Given the description of an element on the screen output the (x, y) to click on. 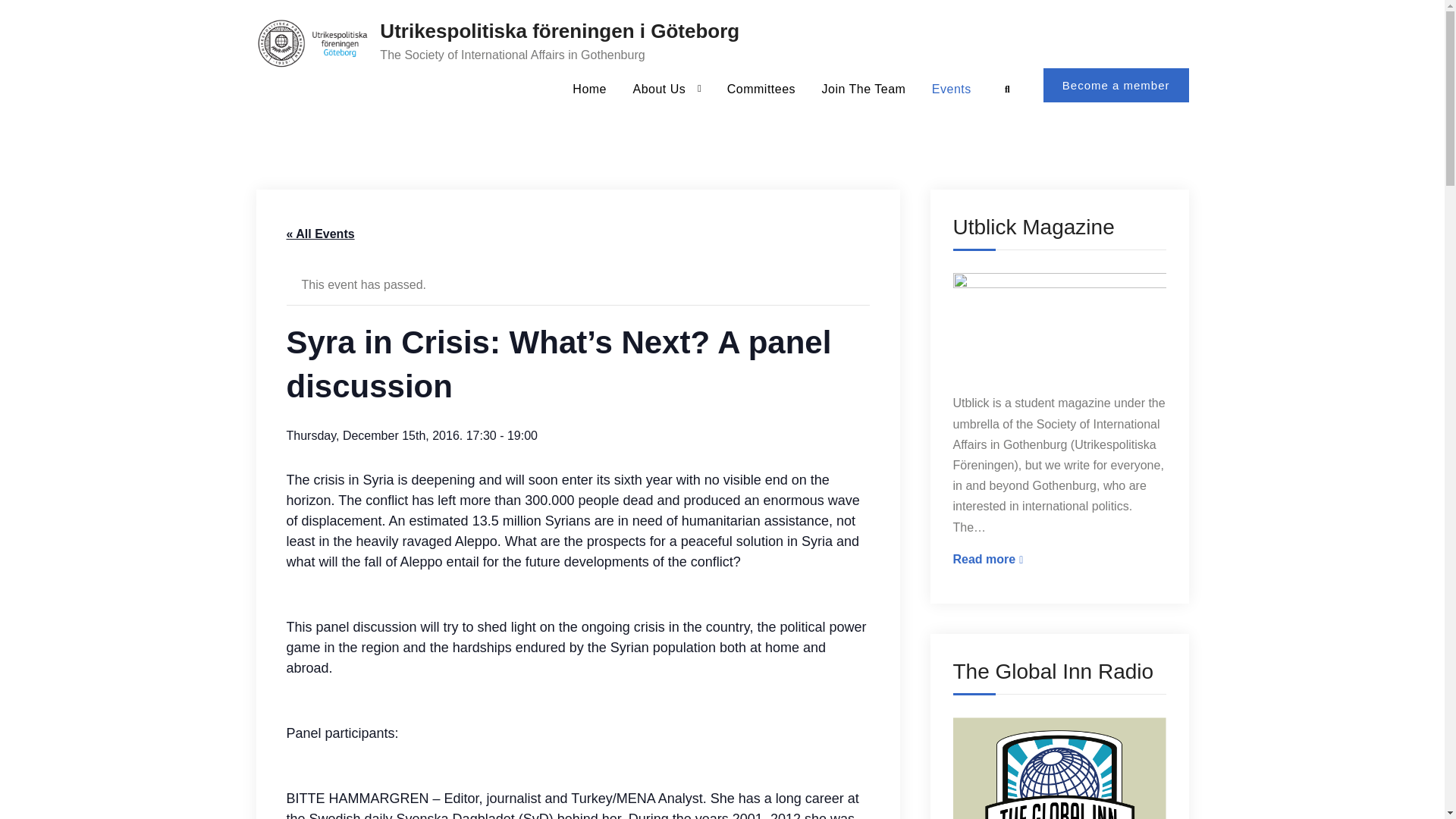
Search (1007, 89)
About Us (666, 88)
Become a member (1116, 85)
Committees (761, 88)
Events (951, 88)
Home (588, 88)
Join The Team (863, 88)
